Given the description of an element on the screen output the (x, y) to click on. 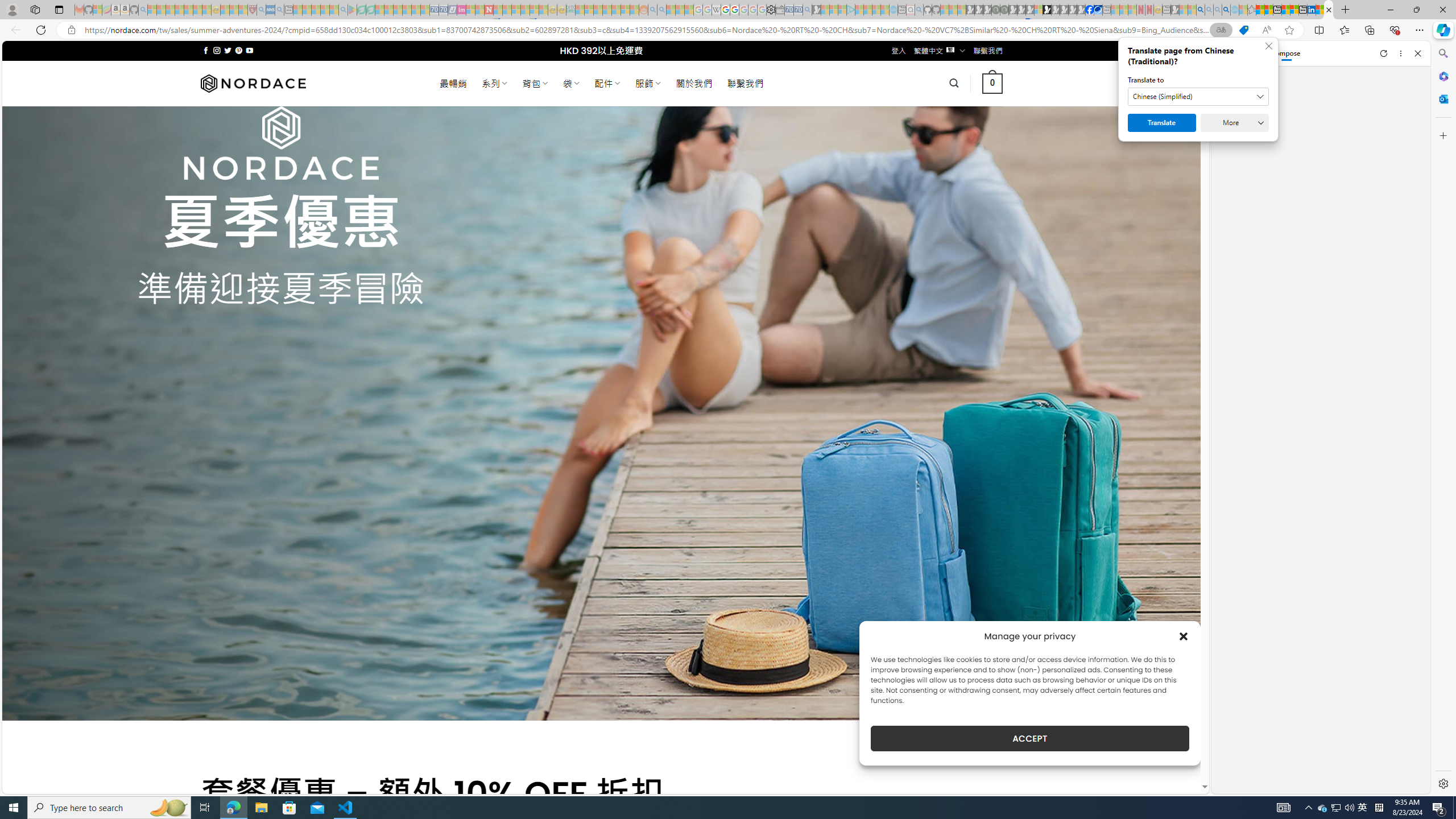
Privacy Help Center - Policies Help (725, 9)
Favorites - Sleeping (1251, 9)
Nordace | Facebook (1089, 9)
